Given the description of an element on the screen output the (x, y) to click on. 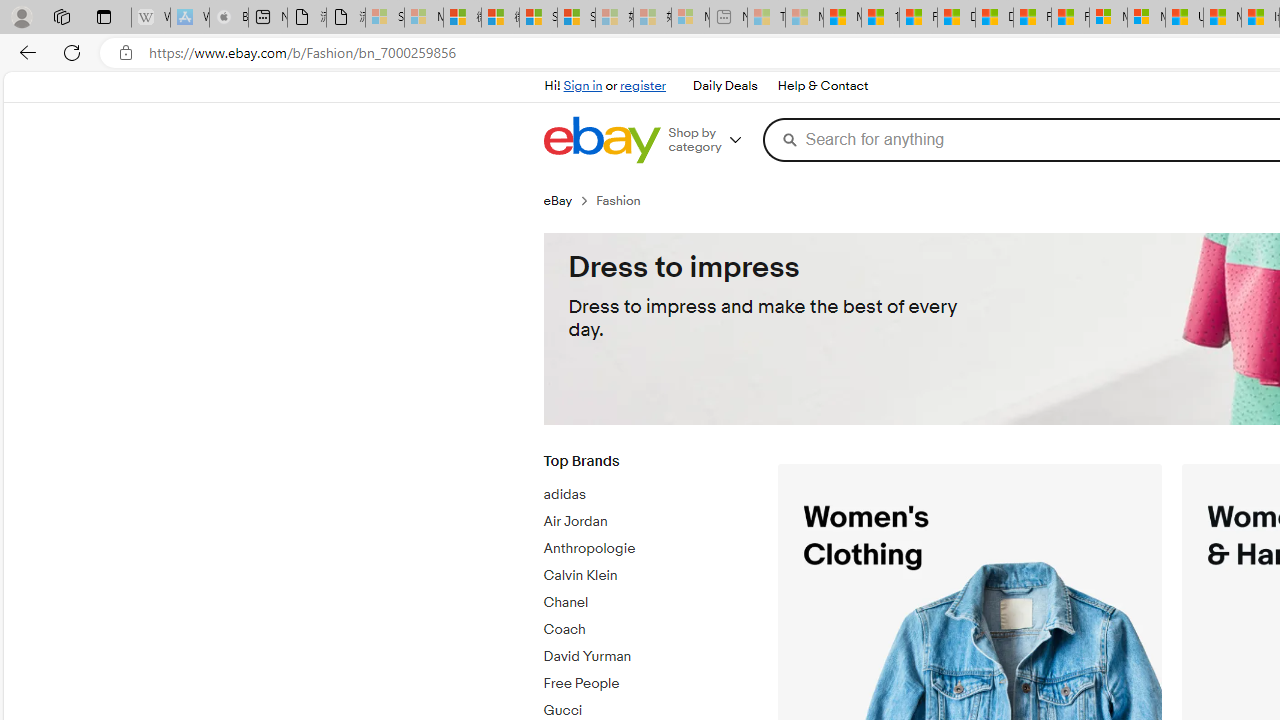
Fashion (626, 200)
Help & Contact (821, 85)
Coach (645, 626)
Marine life - MSN - Sleeping (804, 17)
Air Jordan (645, 518)
Top Stories - MSN - Sleeping (765, 17)
Air Jordan (645, 522)
adidas (645, 491)
Chanel (645, 603)
Calvin Klein (645, 572)
